Given the description of an element on the screen output the (x, y) to click on. 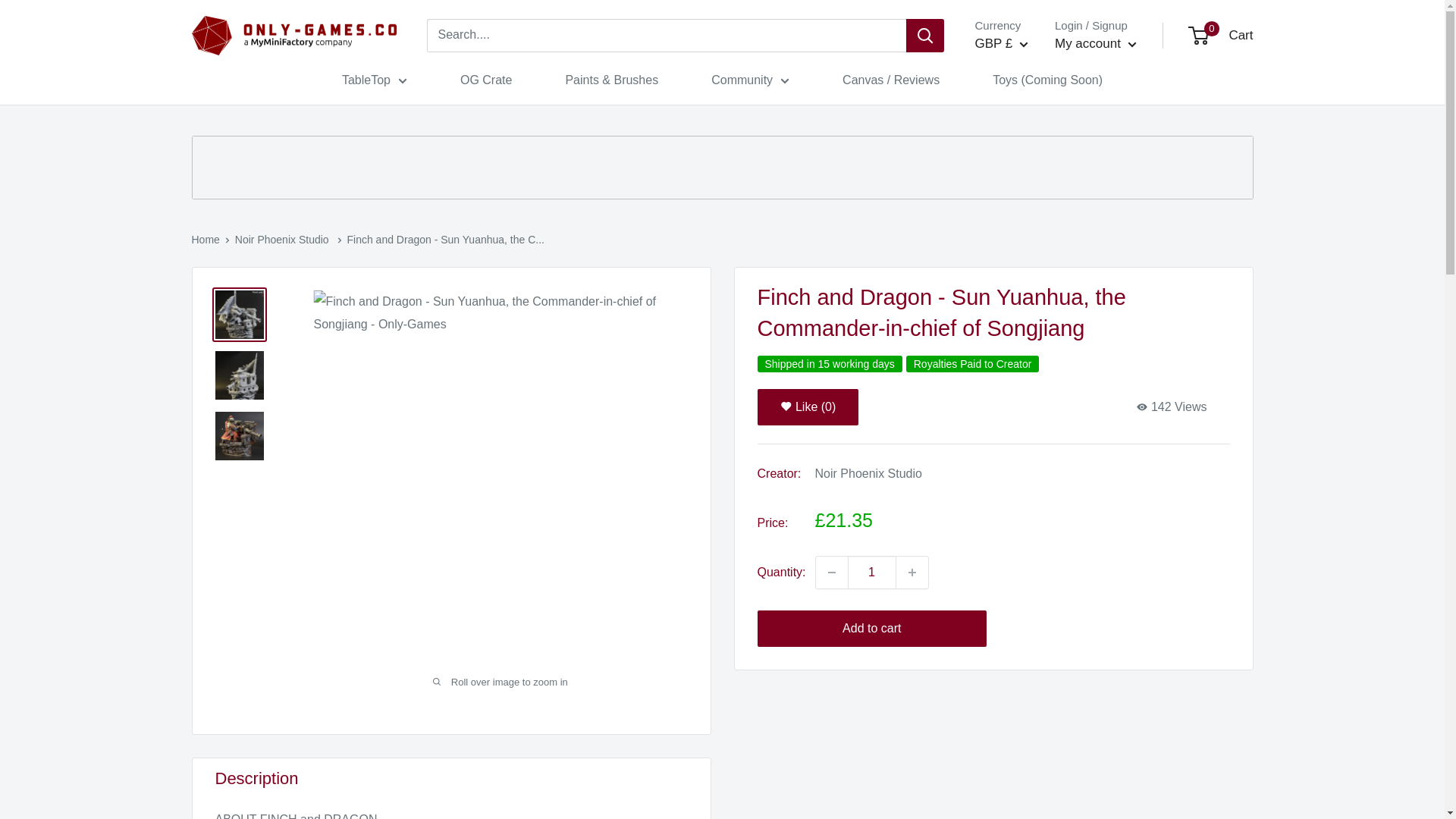
Only-Games (293, 35)
Decrease quantity by 1 (831, 572)
GBP (1016, 158)
DKK (1016, 112)
USD (1016, 181)
1 (871, 572)
EUR (1016, 135)
AUD (1016, 88)
Increase quantity by 1 (912, 572)
My account (1095, 43)
